Given the description of an element on the screen output the (x, y) to click on. 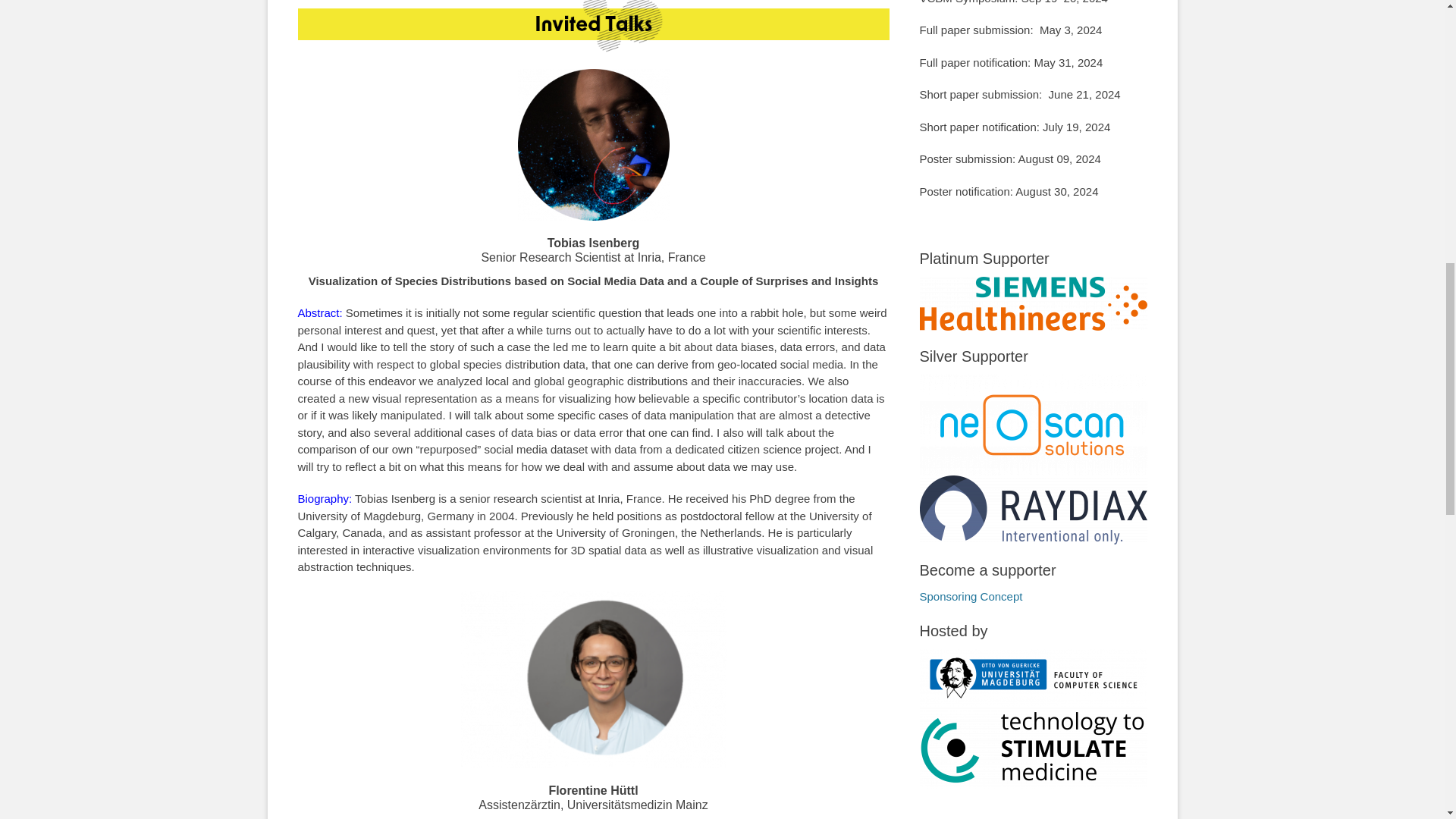
Sponsoring Concept (970, 595)
